Given the description of an element on the screen output the (x, y) to click on. 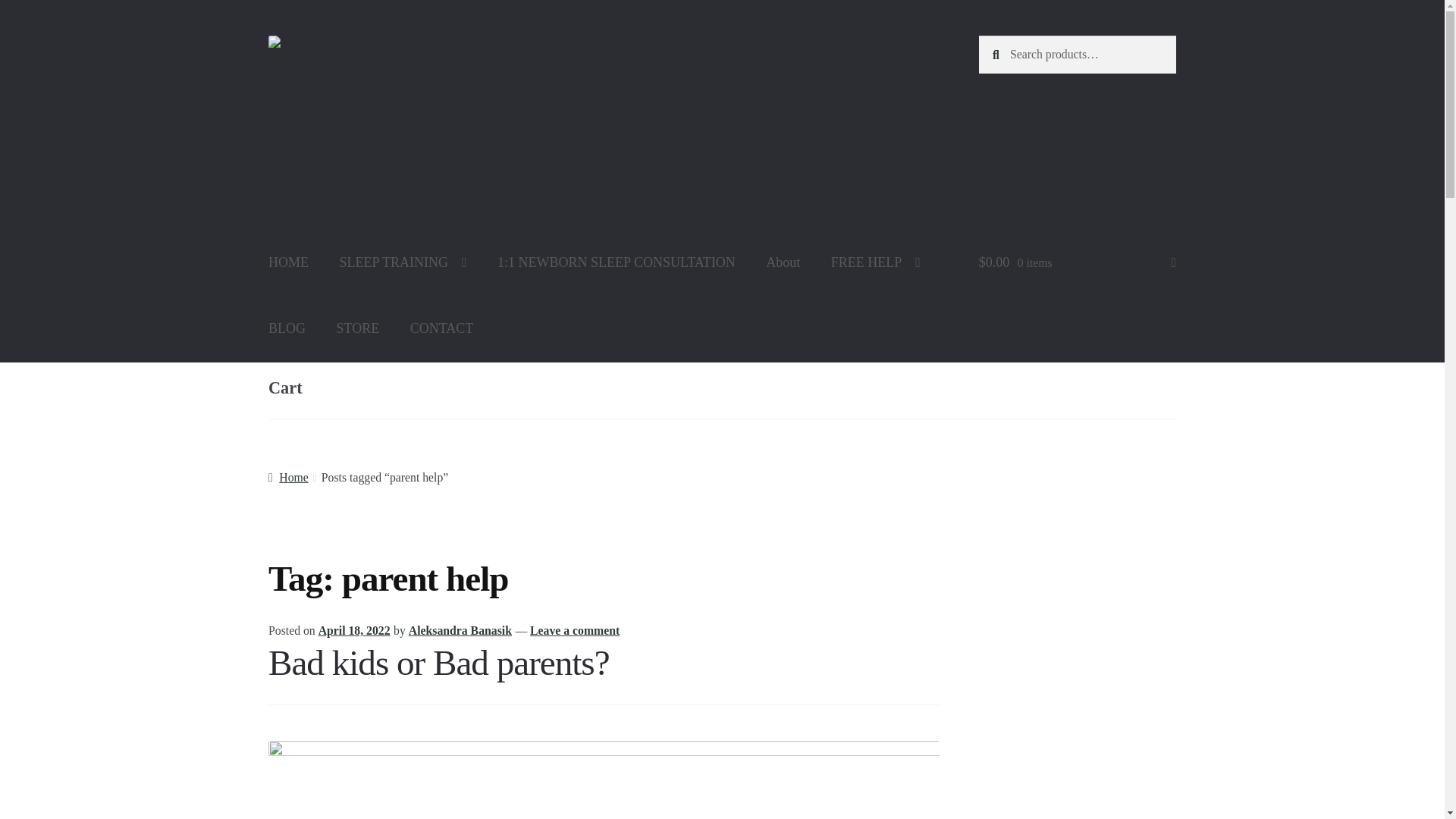
BLOG (286, 328)
CONTACT (441, 328)
View your shopping cart (1077, 262)
SLEEP TRAINING (403, 262)
FREE HELP (875, 262)
STORE (358, 328)
About (782, 262)
HOME (287, 262)
1:1 NEWBORN SLEEP CONSULTATION (616, 262)
